Given the description of an element on the screen output the (x, y) to click on. 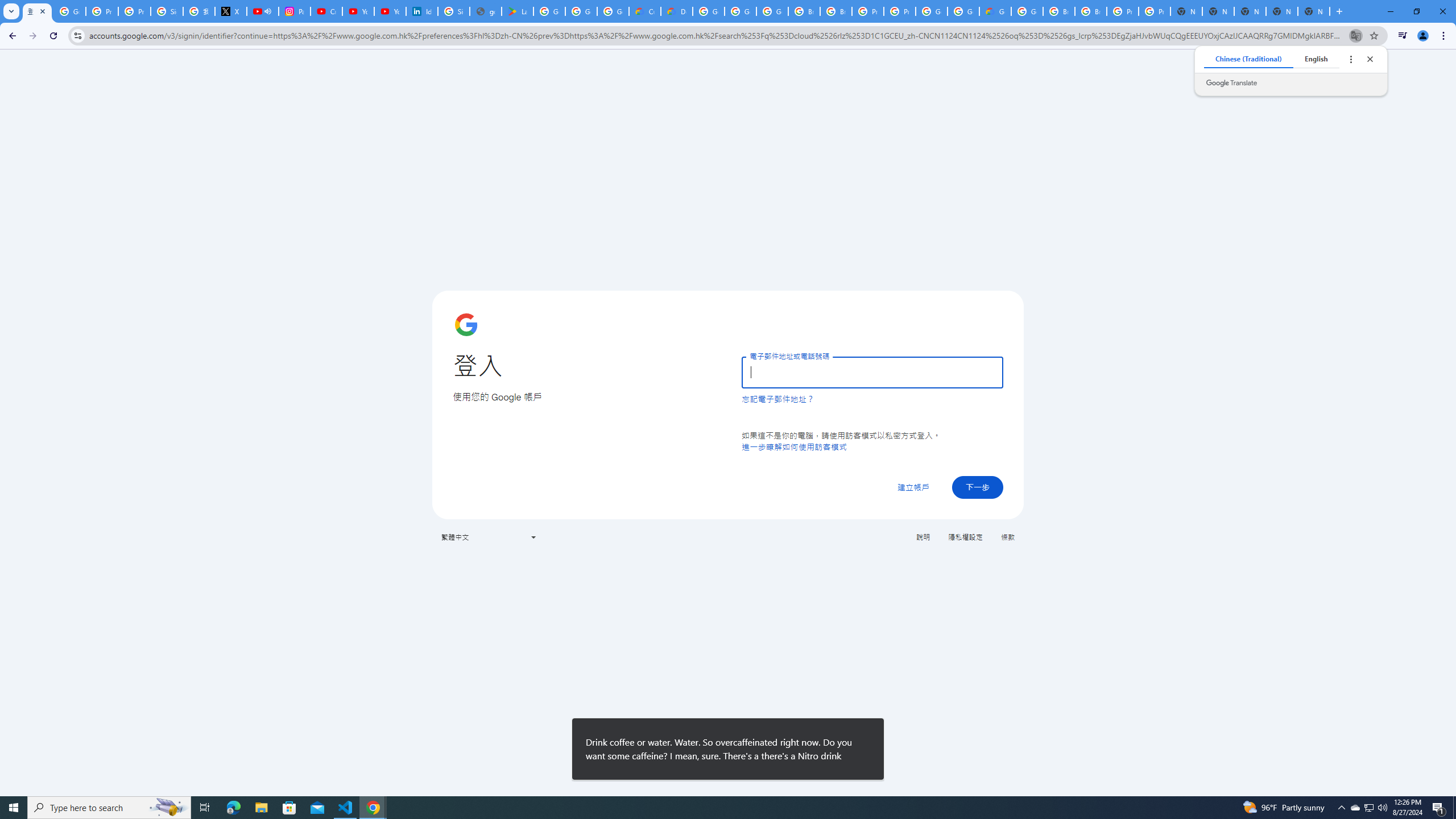
Google Workspace - Specific Terms (613, 11)
Google Cloud Estimate Summary (995, 11)
Google Cloud Platform (931, 11)
Google Workspace - Specific Terms (581, 11)
Google Cloud Platform (963, 11)
Privacy Help Center - Policies Help (101, 11)
